Given the description of an element on the screen output the (x, y) to click on. 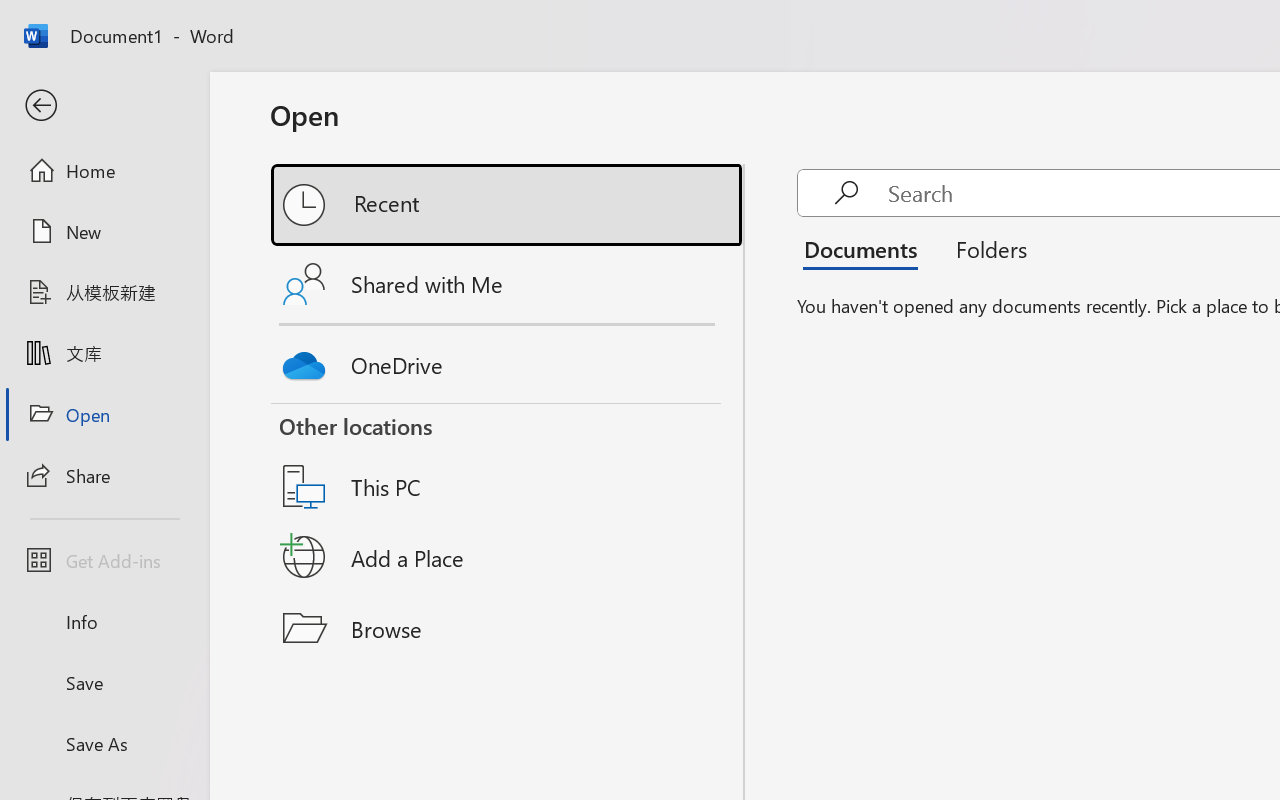
Back (104, 106)
Add a Place (507, 557)
Folders (984, 248)
Shared with Me (507, 283)
Browse (507, 627)
